Given the description of an element on the screen output the (x, y) to click on. 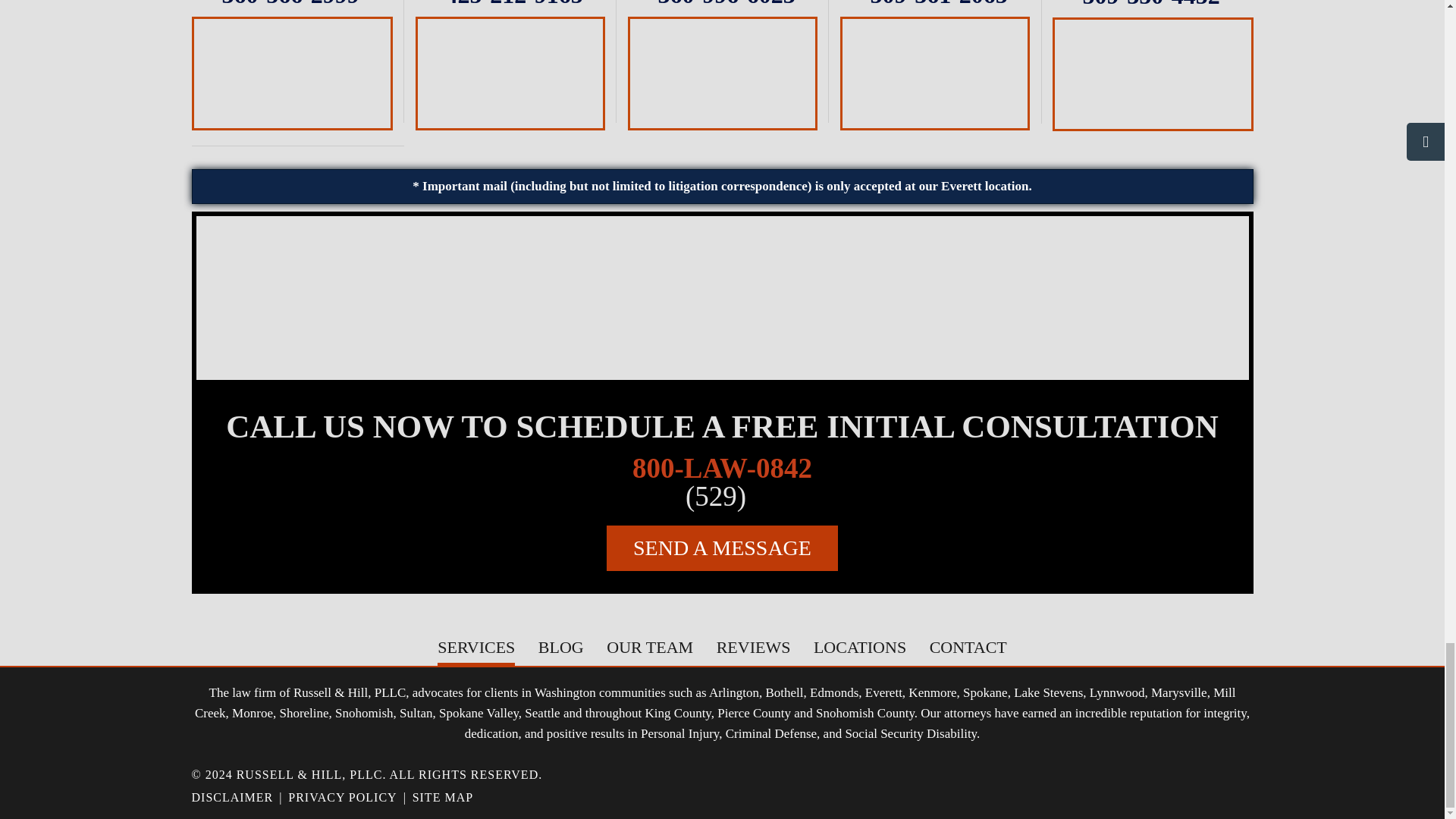
SEND A MESSAGE (722, 547)
